Given the description of an element on the screen output the (x, y) to click on. 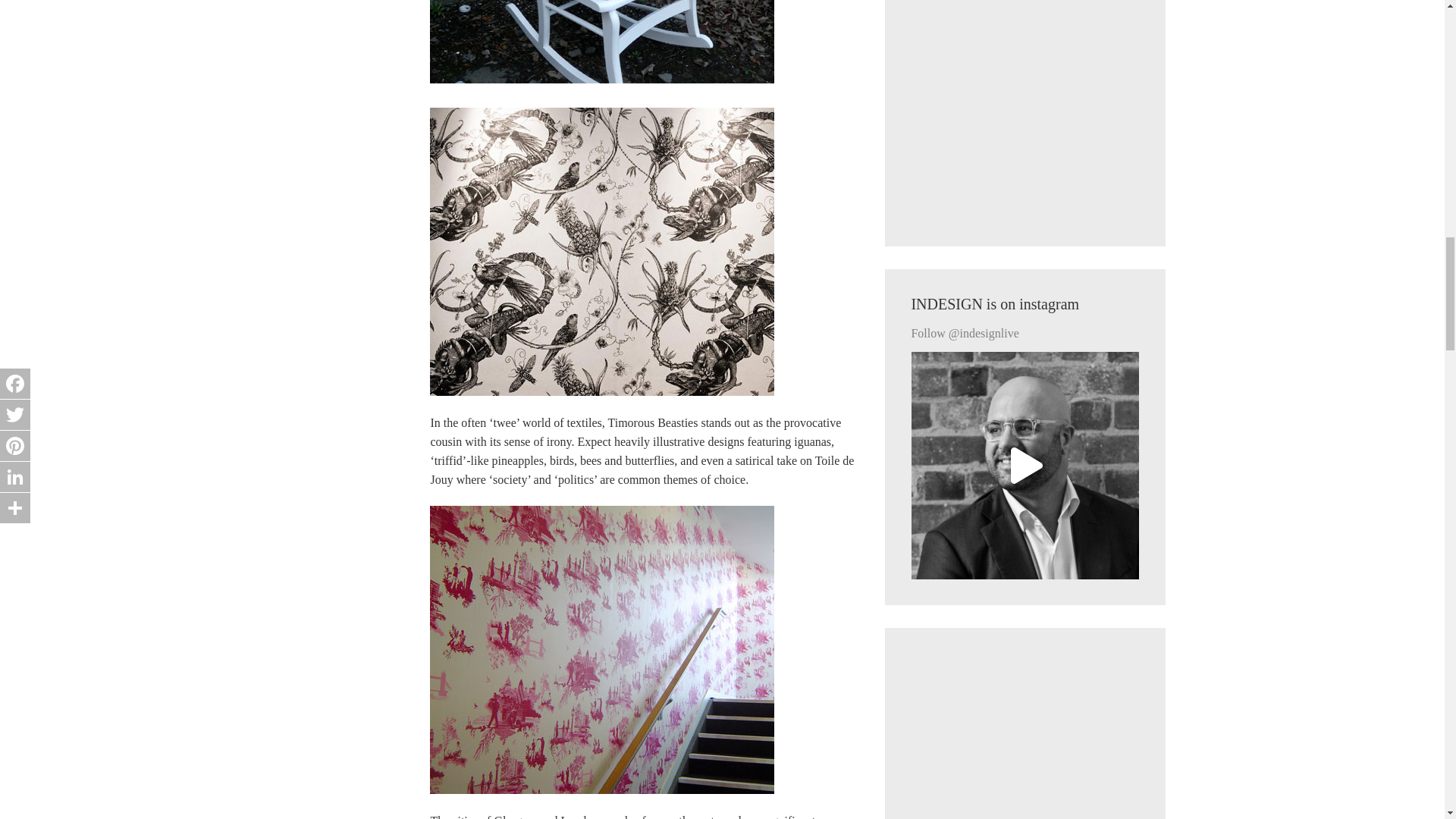
3rd party ad content (1024, 110)
